Given the description of an element on the screen output the (x, y) to click on. 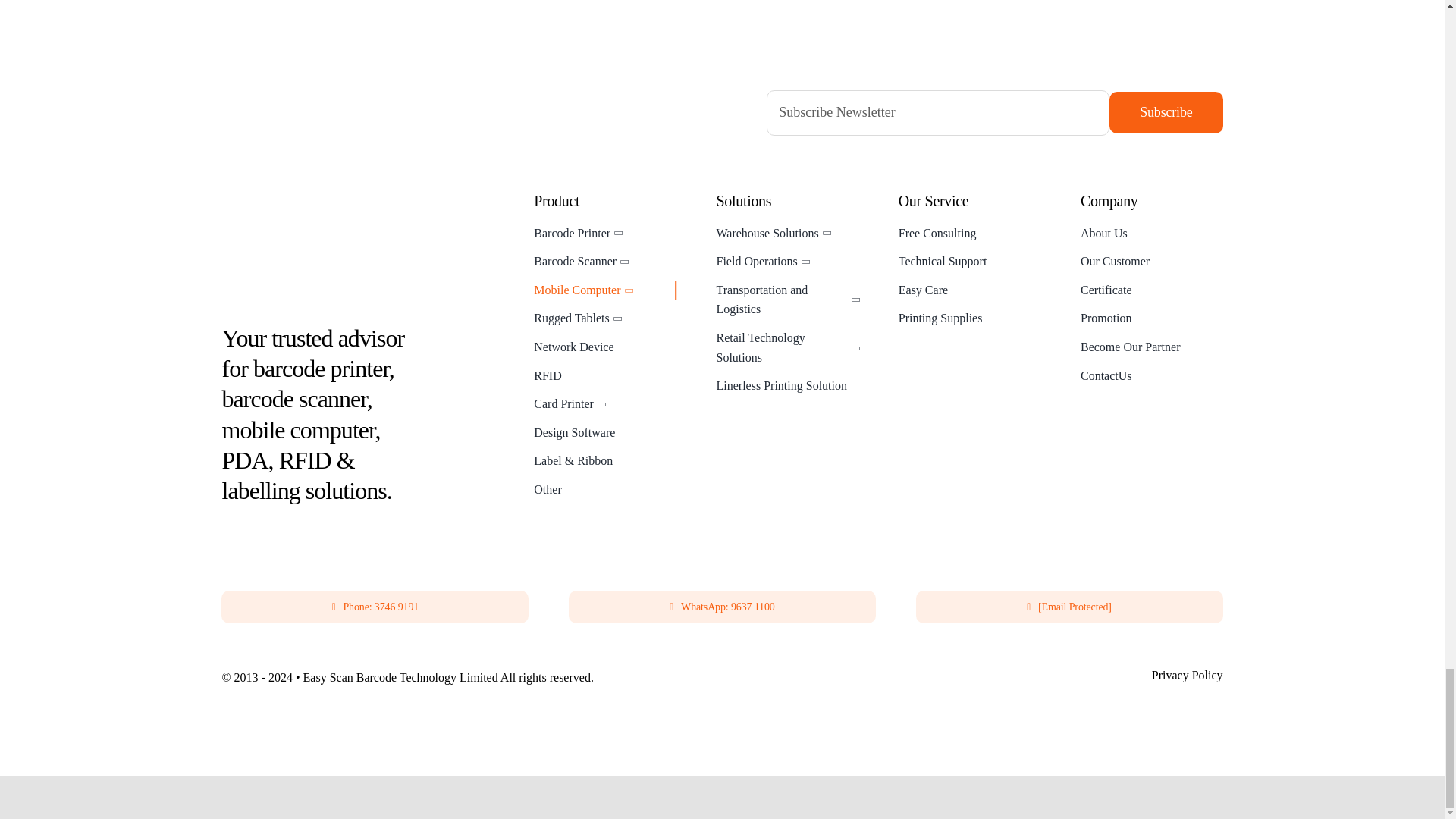
Subscribe (1166, 112)
Easy Scan logo (327, 250)
